Given the description of an element on the screen output the (x, y) to click on. 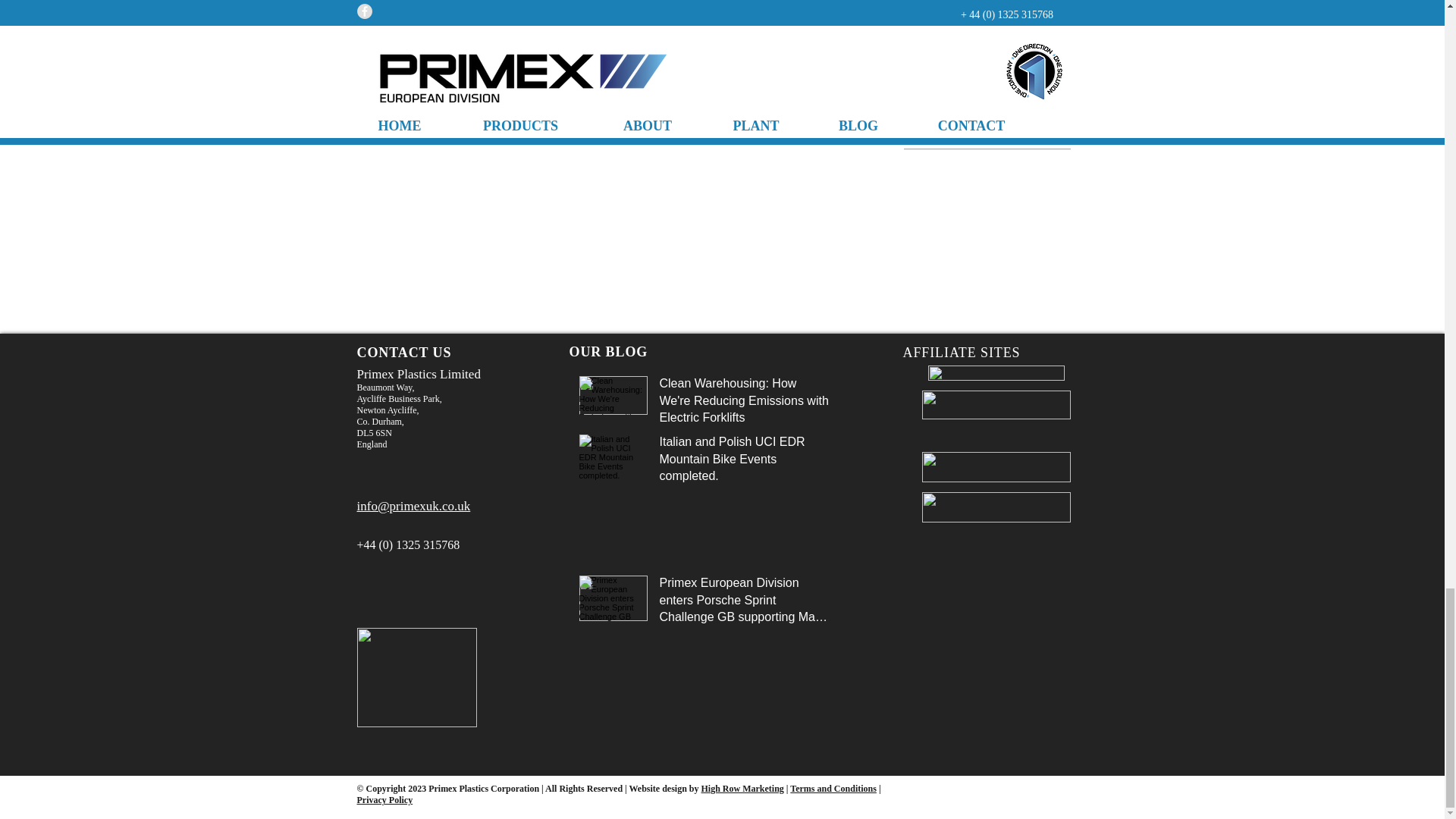
City of Culture Social Media Button Web Tile.jpg (416, 677)
